Given the description of an element on the screen output the (x, y) to click on. 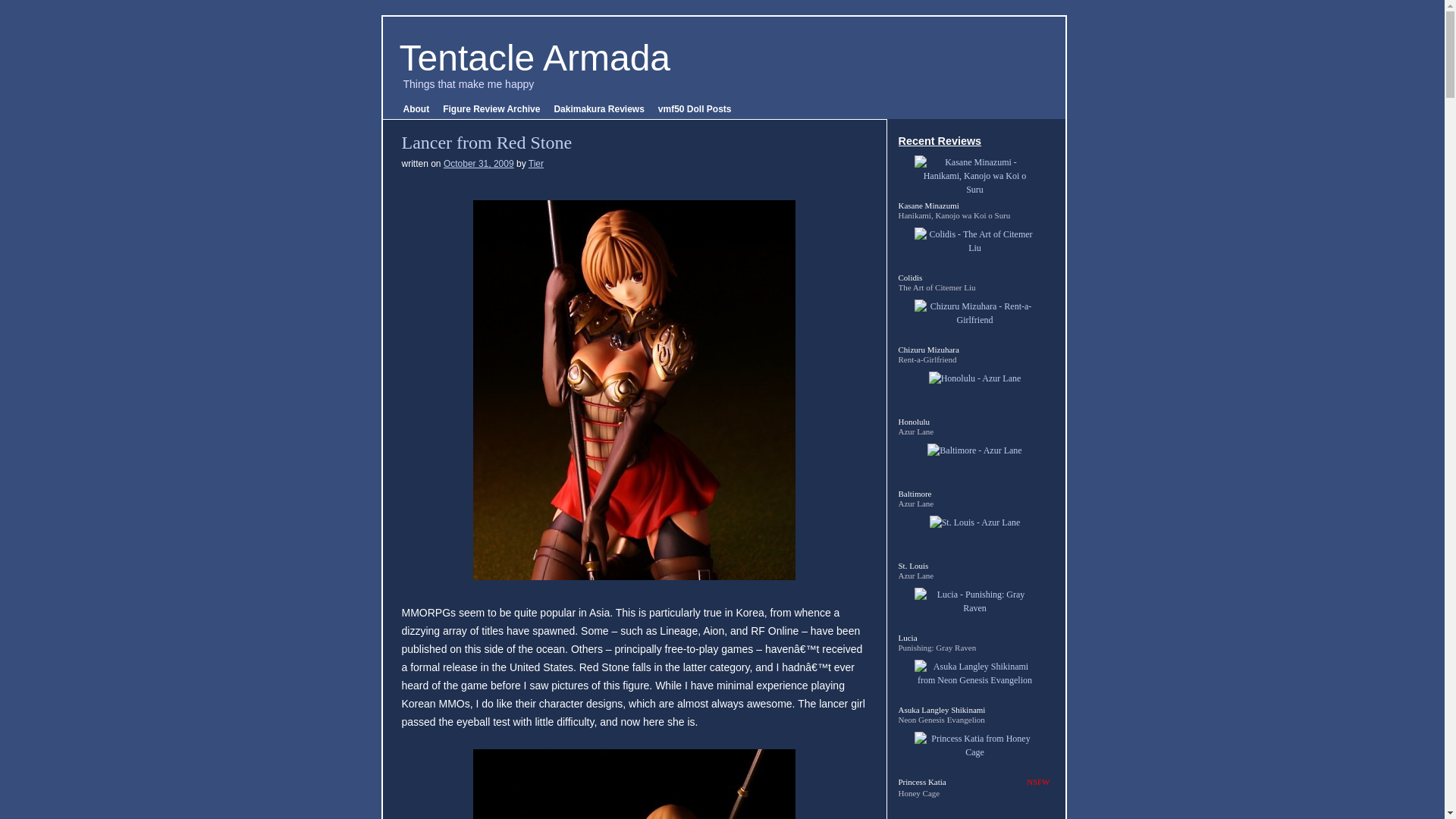
Tentacle Armada (533, 57)
vmf50 Doll Posts (695, 109)
Tier (535, 163)
October 31, 2009 (478, 163)
View all posts by Tier (535, 163)
12:51 PM (478, 163)
Figure Review Archive (491, 109)
Dakimakura Reviews (598, 109)
About (416, 109)
